Given the description of an element on the screen output the (x, y) to click on. 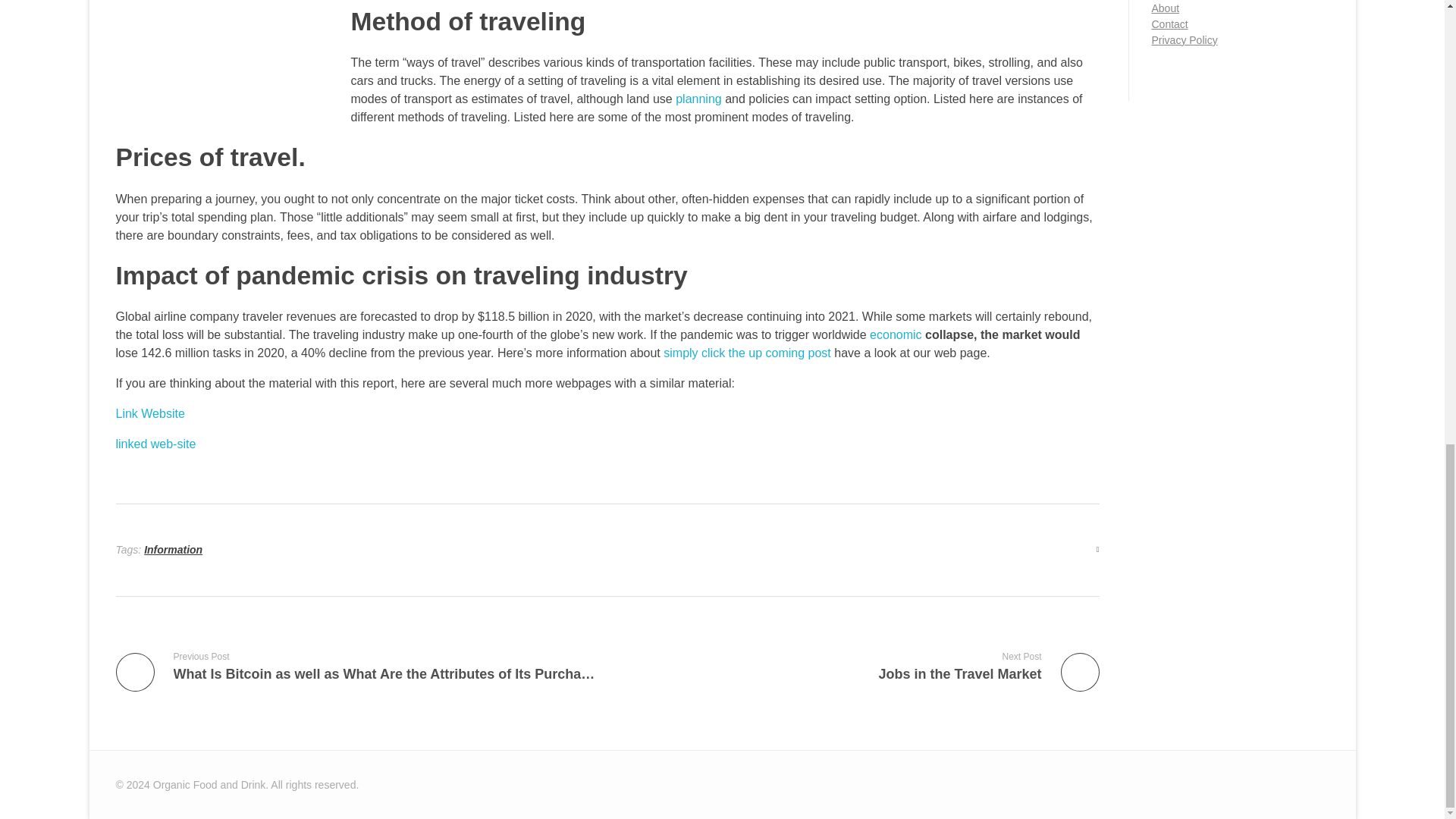
simply click the up coming post (747, 352)
Contact (1169, 24)
Privacy Policy (1184, 39)
economic (895, 334)
linked web-site (155, 443)
Link Website (149, 413)
planning (698, 98)
About (859, 666)
